Given the description of an element on the screen output the (x, y) to click on. 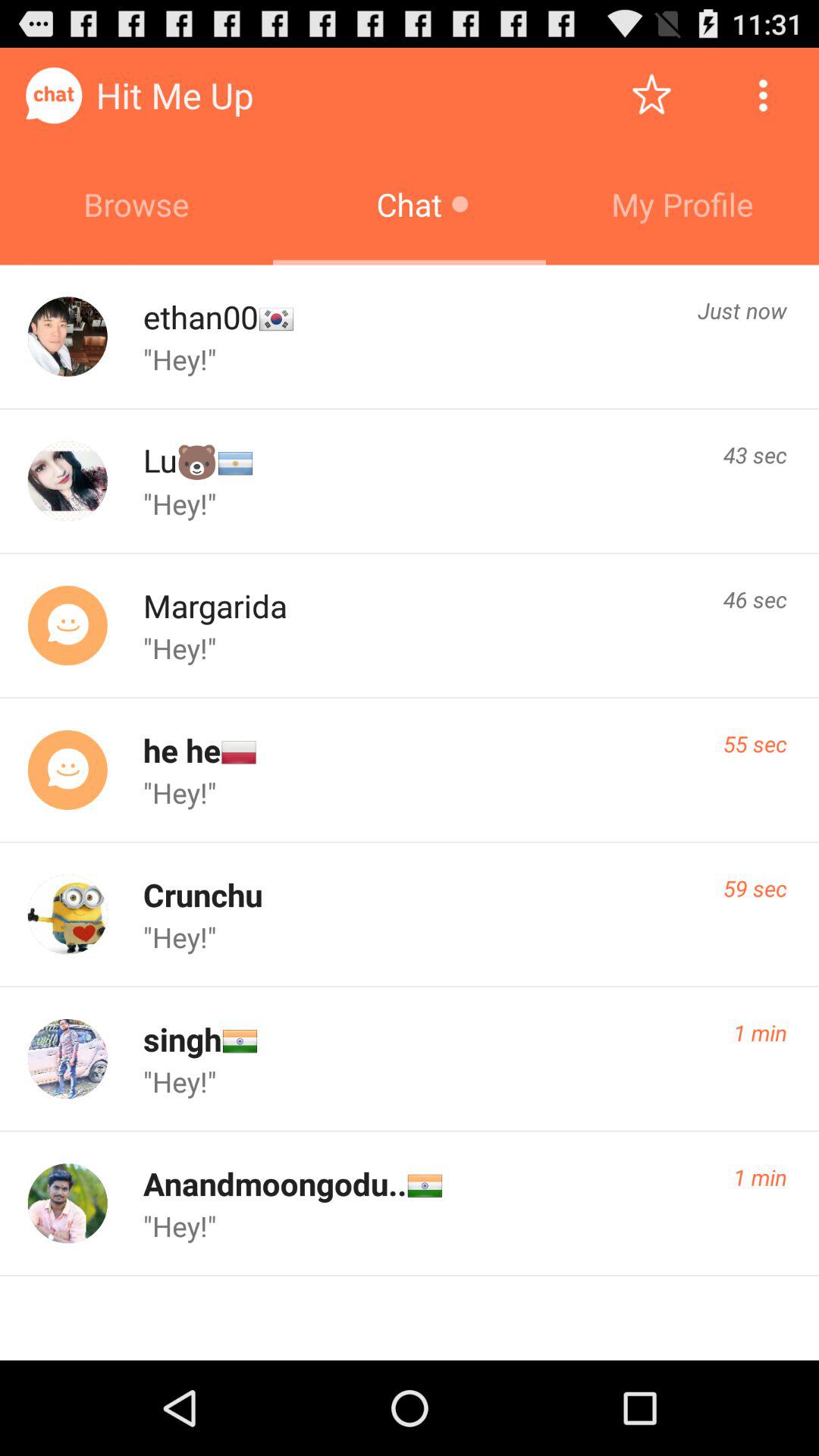
choose he he (181, 749)
